Given the description of an element on the screen output the (x, y) to click on. 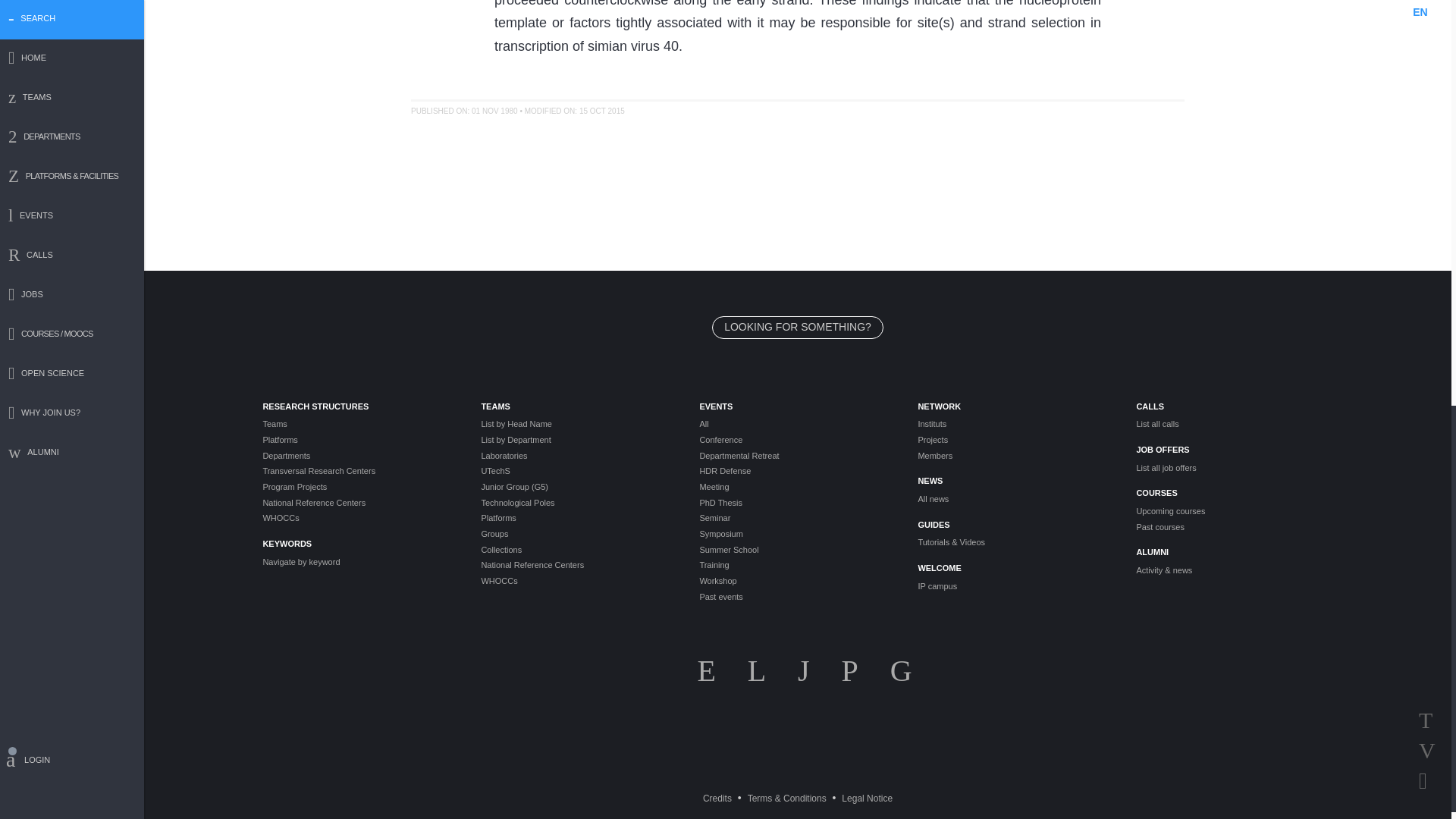
Departments (360, 455)
Transversal Research Centers (360, 471)
Teams (360, 423)
Platforms (360, 440)
Program Projects (360, 486)
